Given the description of an element on the screen output the (x, y) to click on. 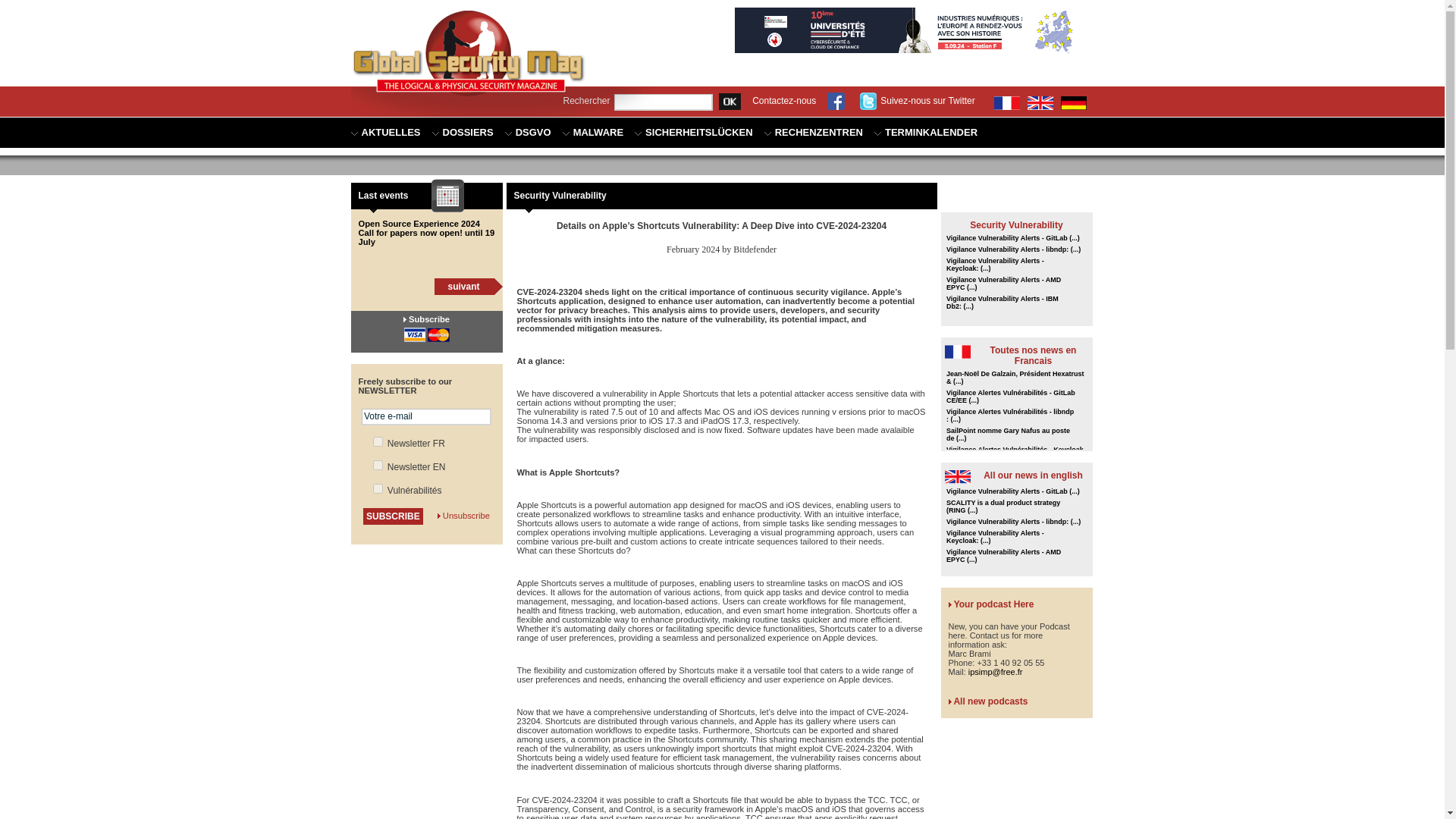
Suivez-nous sur Twitter (927, 100)
signup (377, 441)
signup (377, 488)
SUBSCRIBE (392, 515)
signup (377, 464)
Votre e-mail (426, 416)
Subscribe (429, 317)
MALWARE (592, 132)
RECHENZENTREN (813, 132)
